Given the description of an element on the screen output the (x, y) to click on. 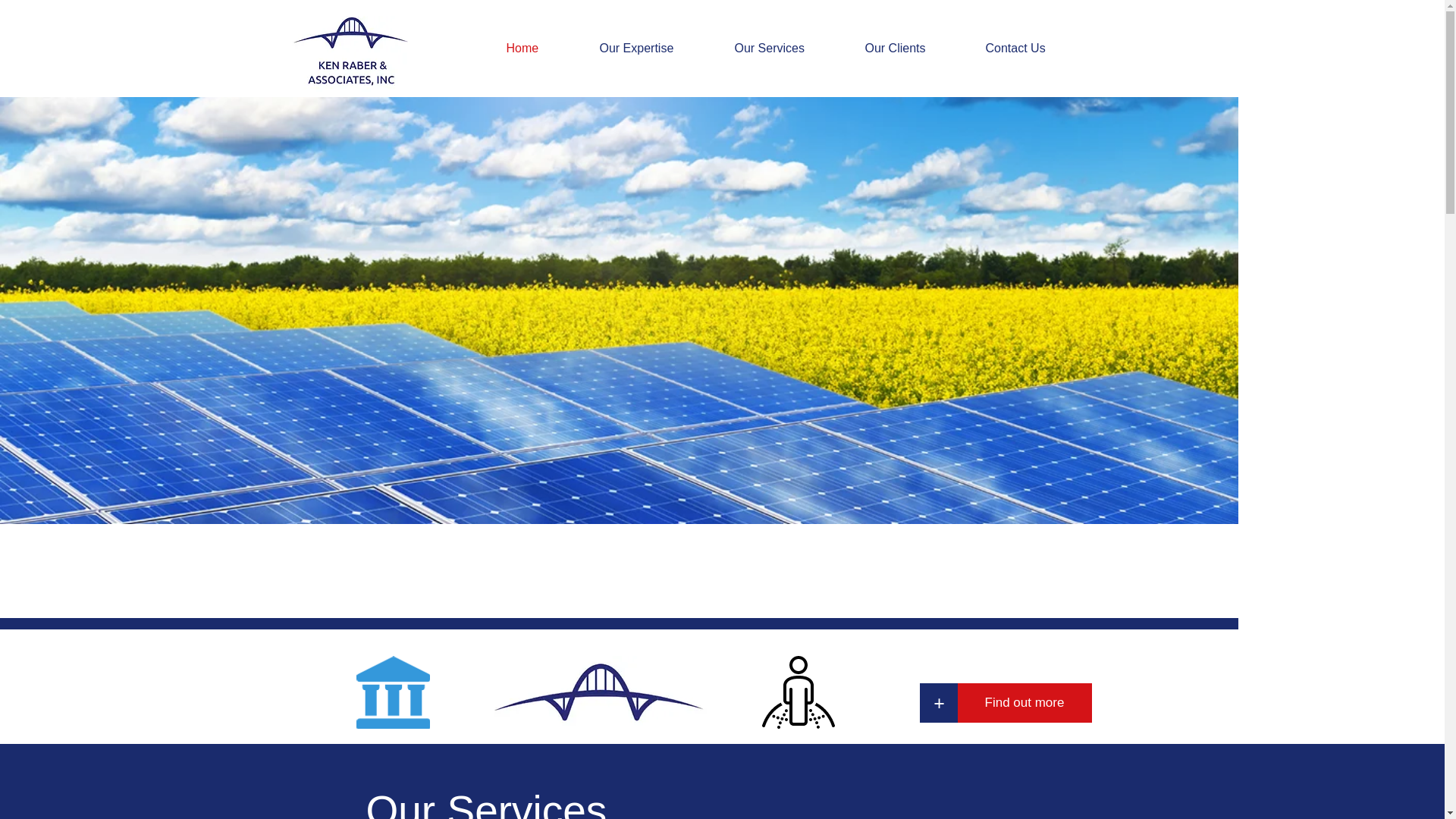
Our Clients (913, 48)
Our Expertise (655, 48)
Contact Us (1033, 48)
Home (541, 48)
Find out more (1023, 702)
Our Services (788, 48)
